Given the description of an element on the screen output the (x, y) to click on. 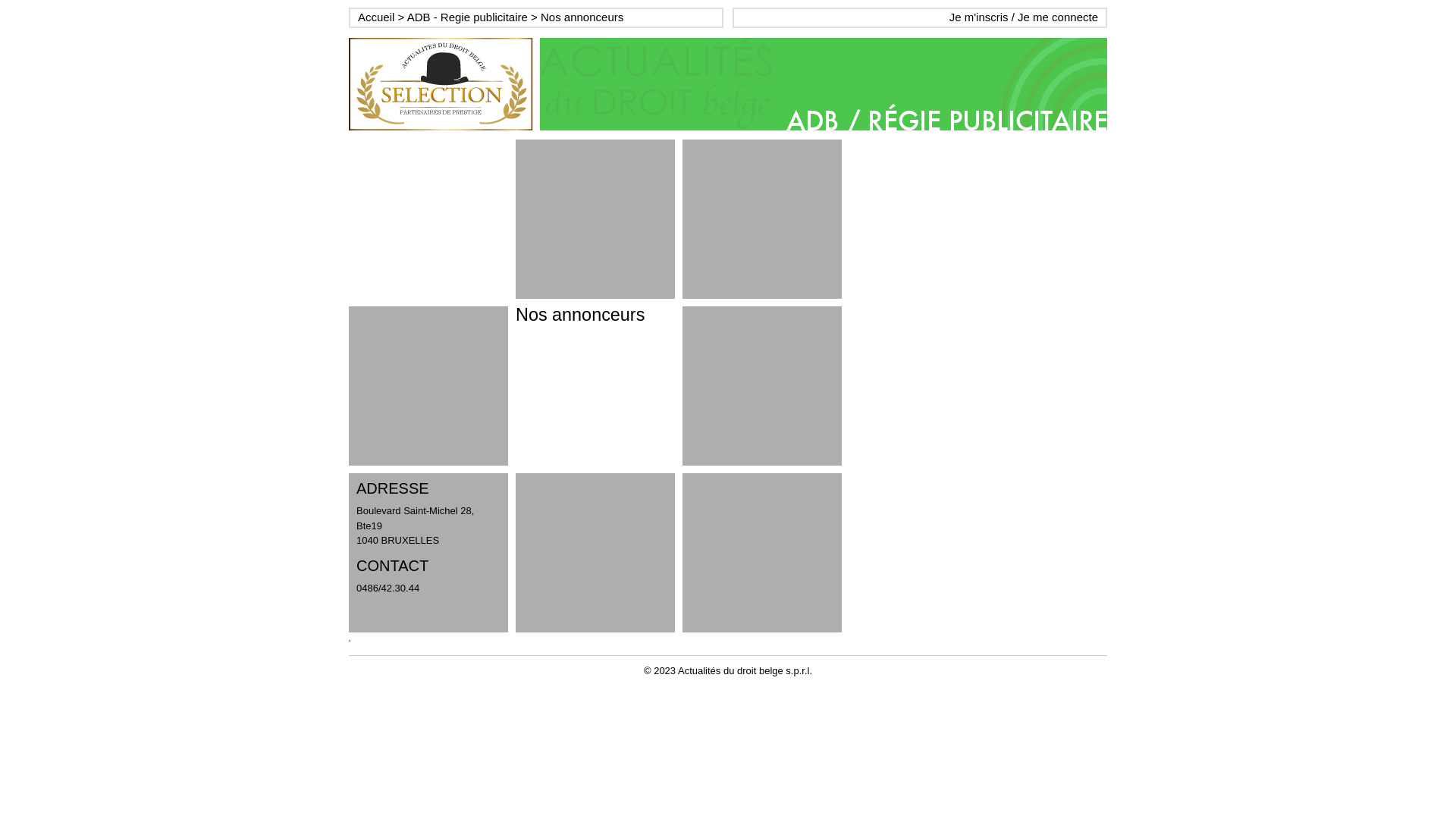
0486/42.30.44 Element type: text (387, 587)
Accueil Element type: text (375, 16)
Je m'inscris / Je me connecte Element type: text (1023, 16)
ADB - Regie publicitaire Element type: text (467, 16)
